Given the description of an element on the screen output the (x, y) to click on. 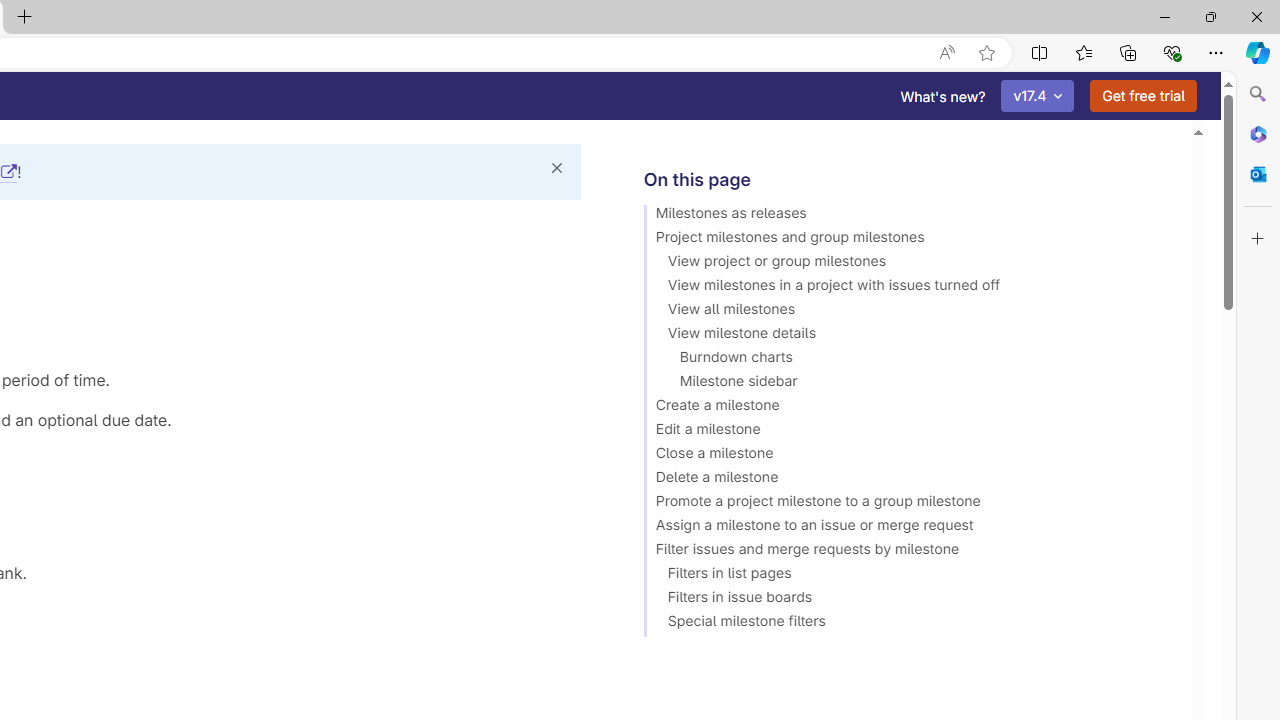
Milestones as releases (908, 215)
View milestone details (908, 336)
Burndown charts (908, 359)
View milestone details (908, 336)
v17.4 (1037, 95)
Burndown charts (908, 359)
Special milestone filters (908, 624)
Assign a milestone to an issue or merge request (908, 528)
